Given the description of an element on the screen output the (x, y) to click on. 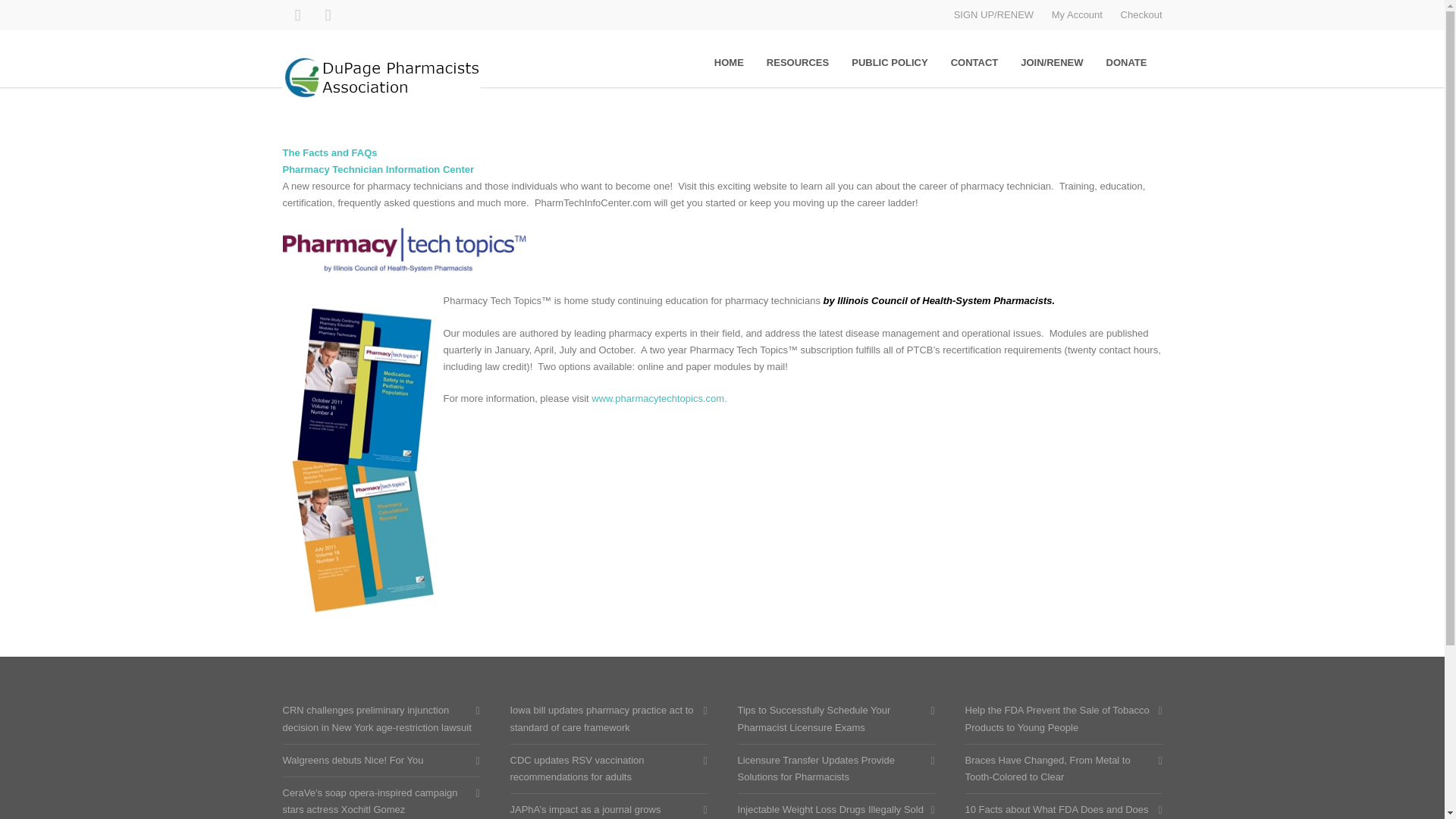
RESOURCES (797, 62)
Checkout (1141, 14)
CDC updates RSV vaccination recommendations for adults (603, 768)
Licensure Transfer Updates Provide Solutions for Pharmacists (831, 768)
My Account (1076, 14)
The Facts and FAQs (329, 152)
www.pharmacytechtopics.com. (658, 398)
PUBLIC POLICY (889, 62)
DONATE (1126, 62)
HOME (729, 62)
email (327, 15)
Walgreens debuts Nice! For You (376, 760)
